Given the description of an element on the screen output the (x, y) to click on. 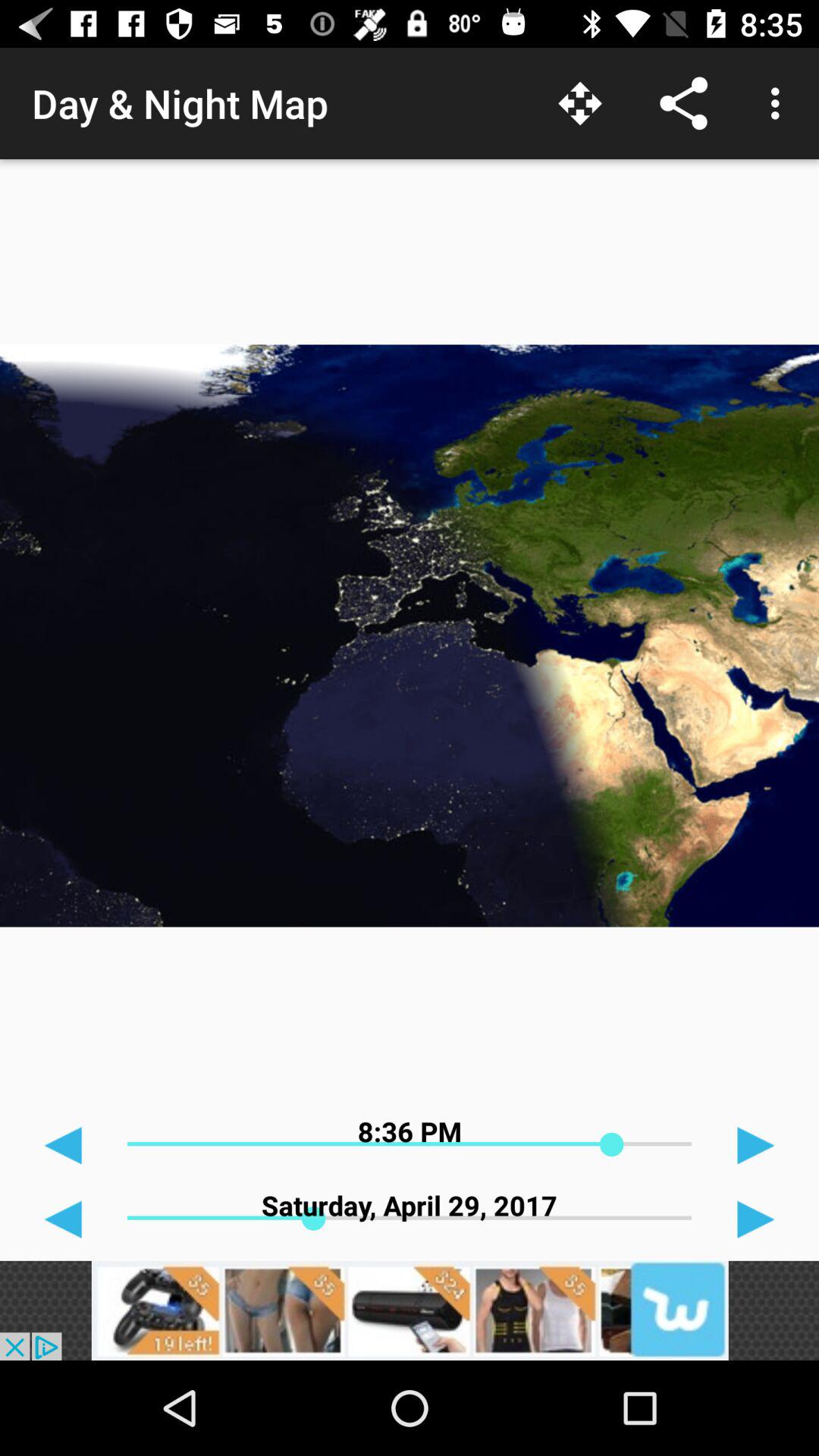
open advertisement (409, 1310)
